Given the description of an element on the screen output the (x, y) to click on. 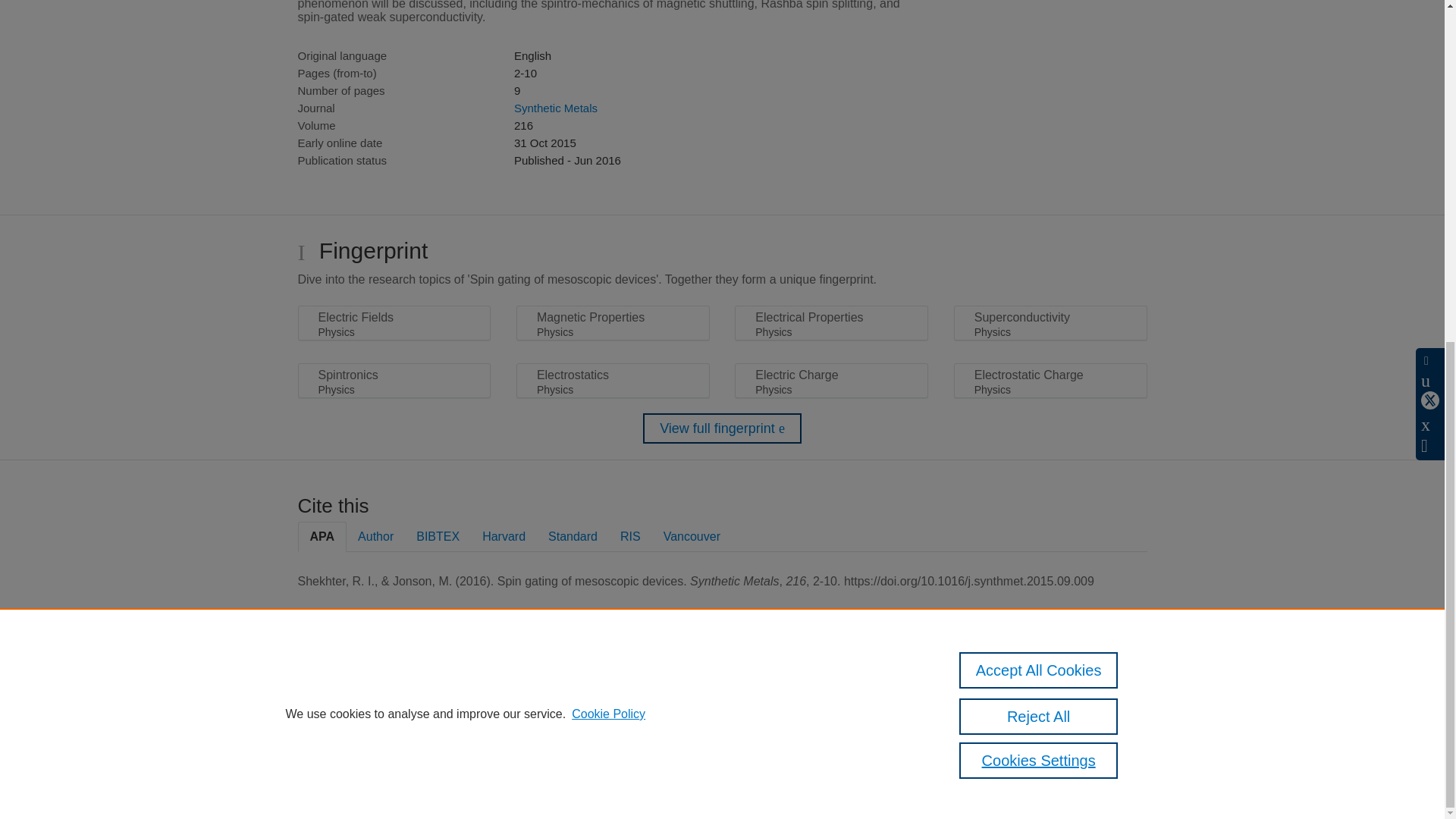
Scopus (394, 686)
View full fingerprint (722, 428)
Synthetic Metals (554, 107)
Pure (362, 686)
